Given the description of an element on the screen output the (x, y) to click on. 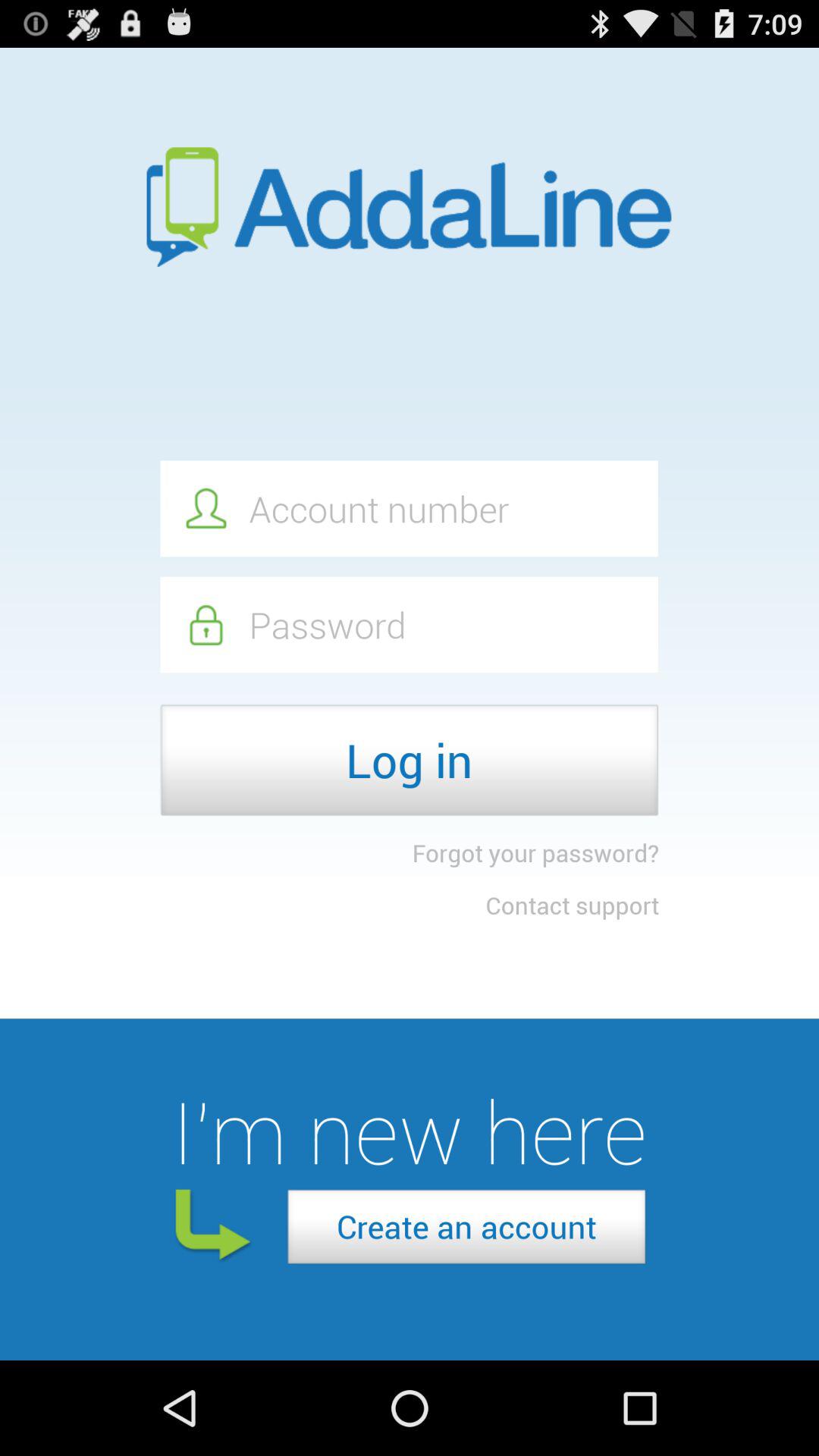
insert username (409, 508)
